Given the description of an element on the screen output the (x, y) to click on. 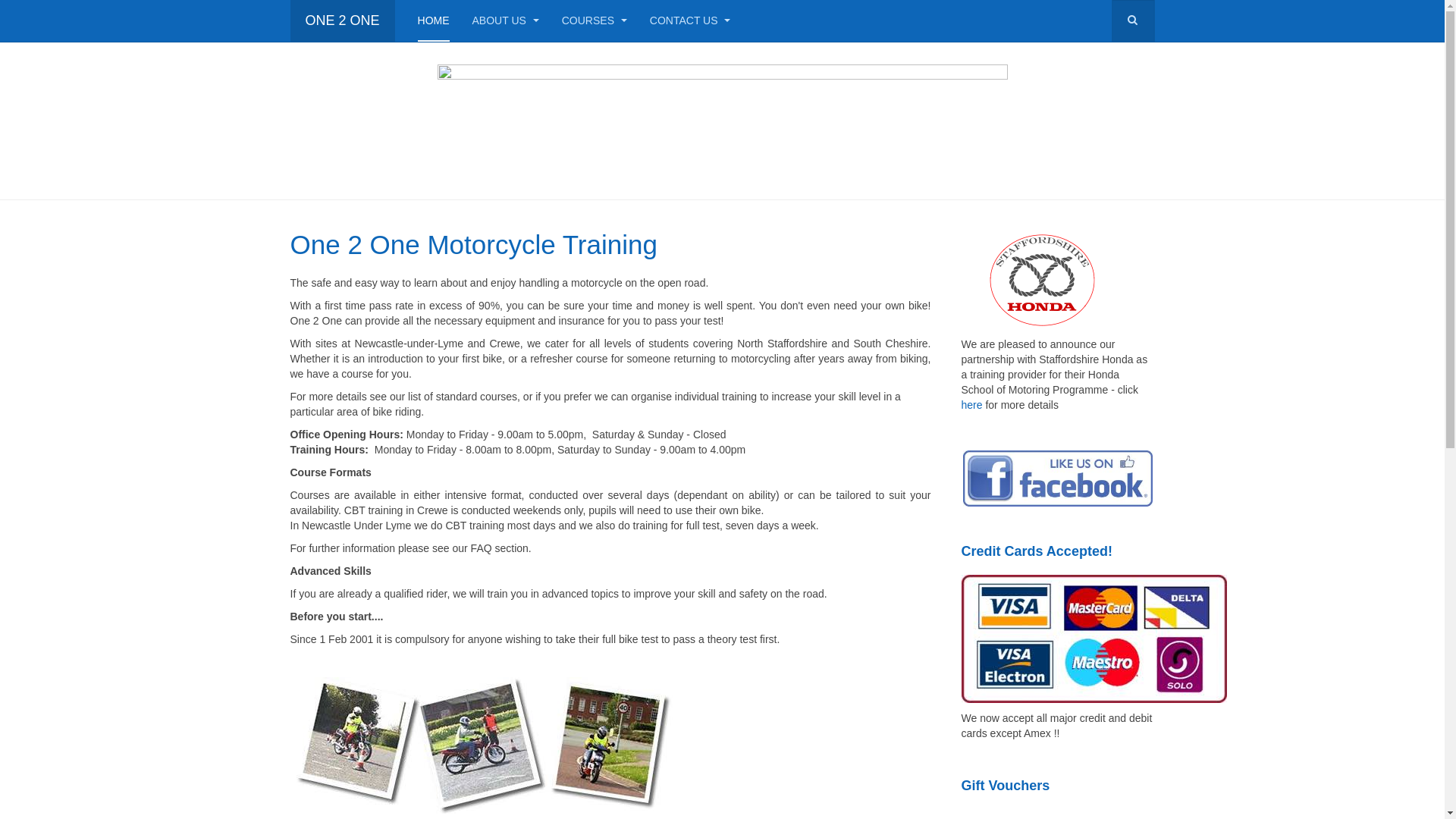
HOME Element type: text (433, 20)
ABOUT US Element type: text (505, 20)
here Element type: text (971, 404)
COURSES Element type: text (594, 20)
Staffordshire Honda  Element type: hover (1057, 279)
ONE 2 ONE Element type: text (341, 20)
CONTACT US Element type: text (690, 20)
